Given the description of an element on the screen output the (x, y) to click on. 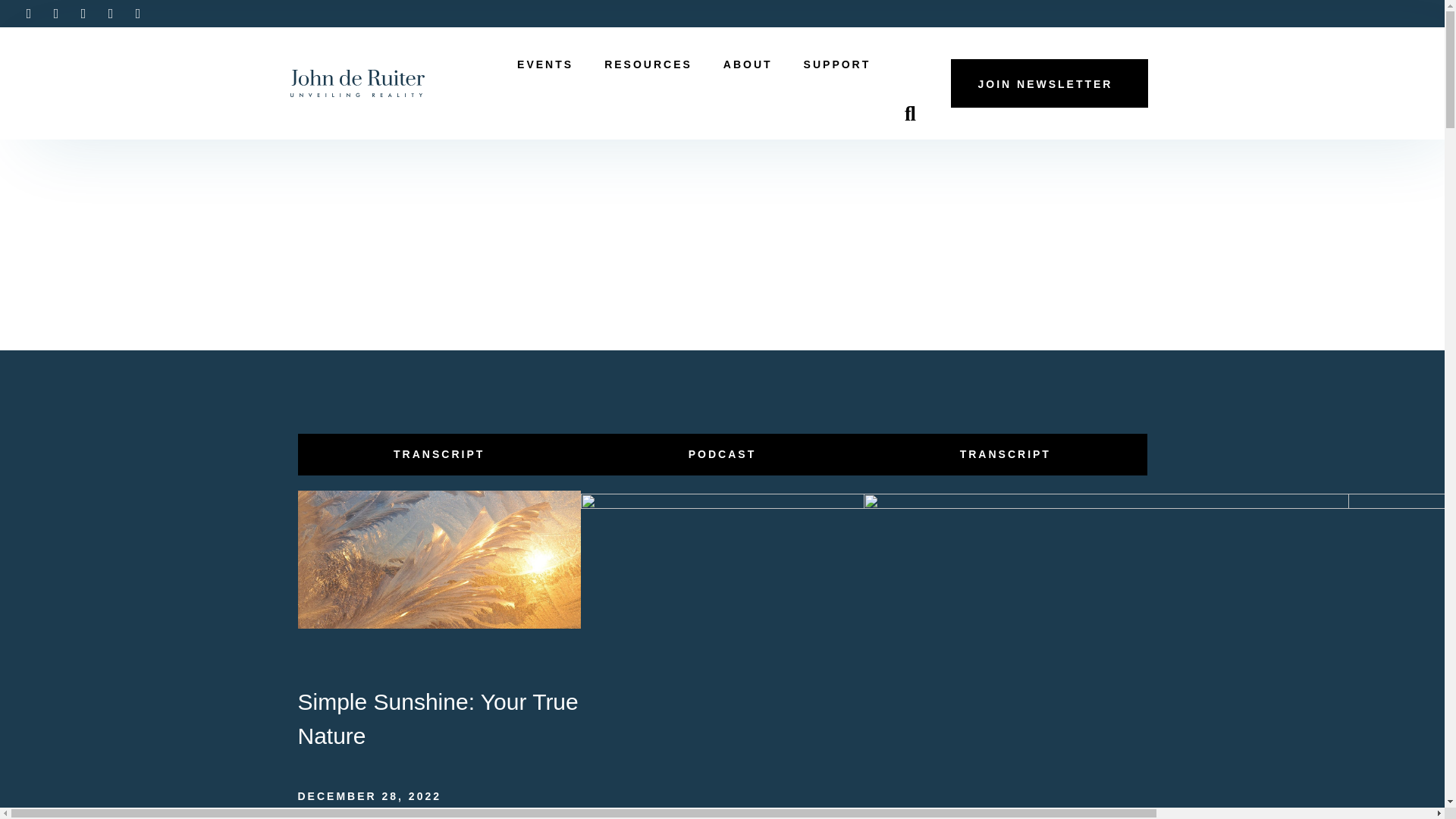
SUPPORT (841, 65)
RESOURCES (651, 65)
EVENTS (548, 65)
ABOUT (751, 65)
